Given the description of an element on the screen output the (x, y) to click on. 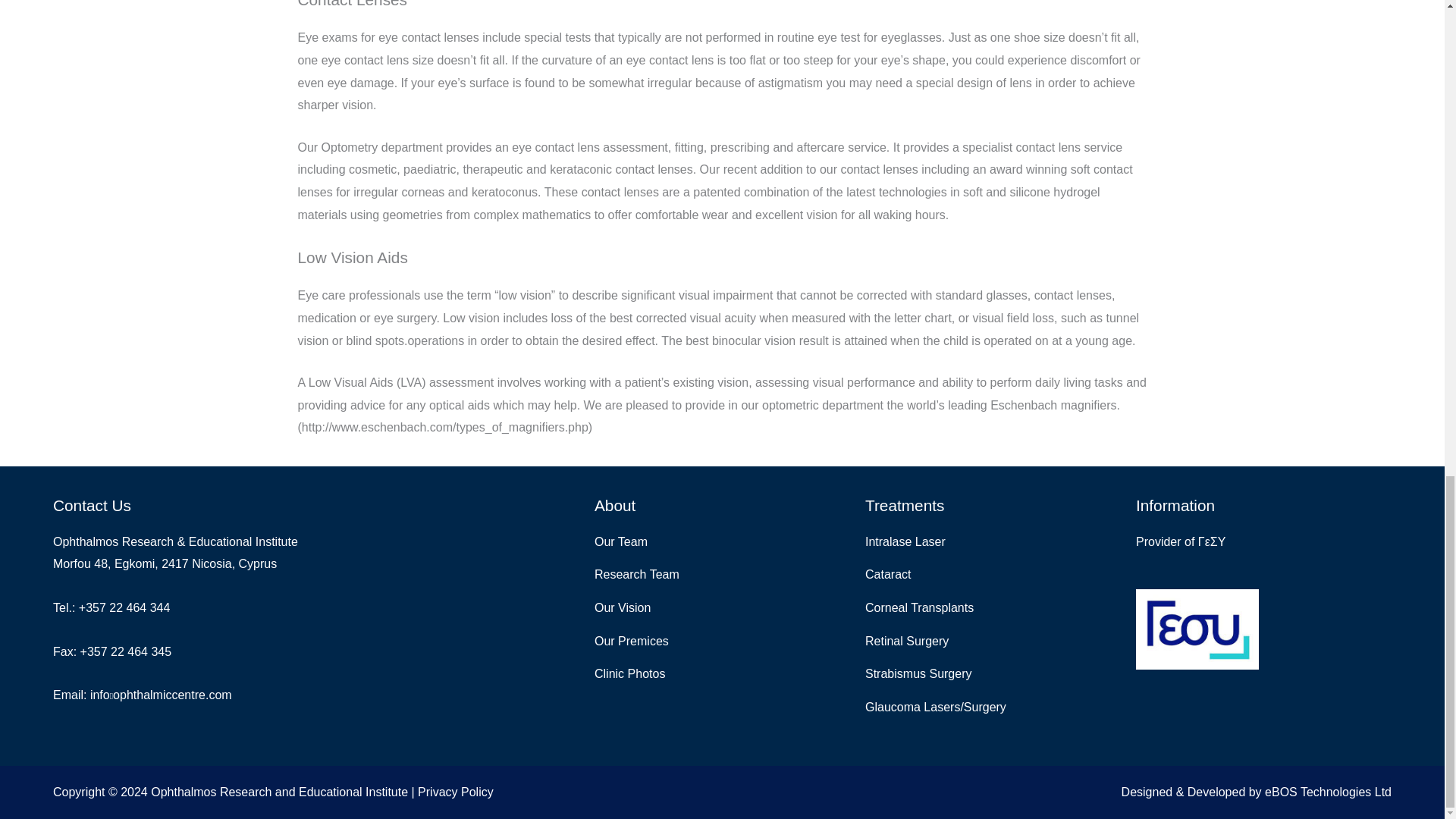
Our Team (722, 541)
Research Team (722, 574)
Our Vision (722, 608)
